Given the description of an element on the screen output the (x, y) to click on. 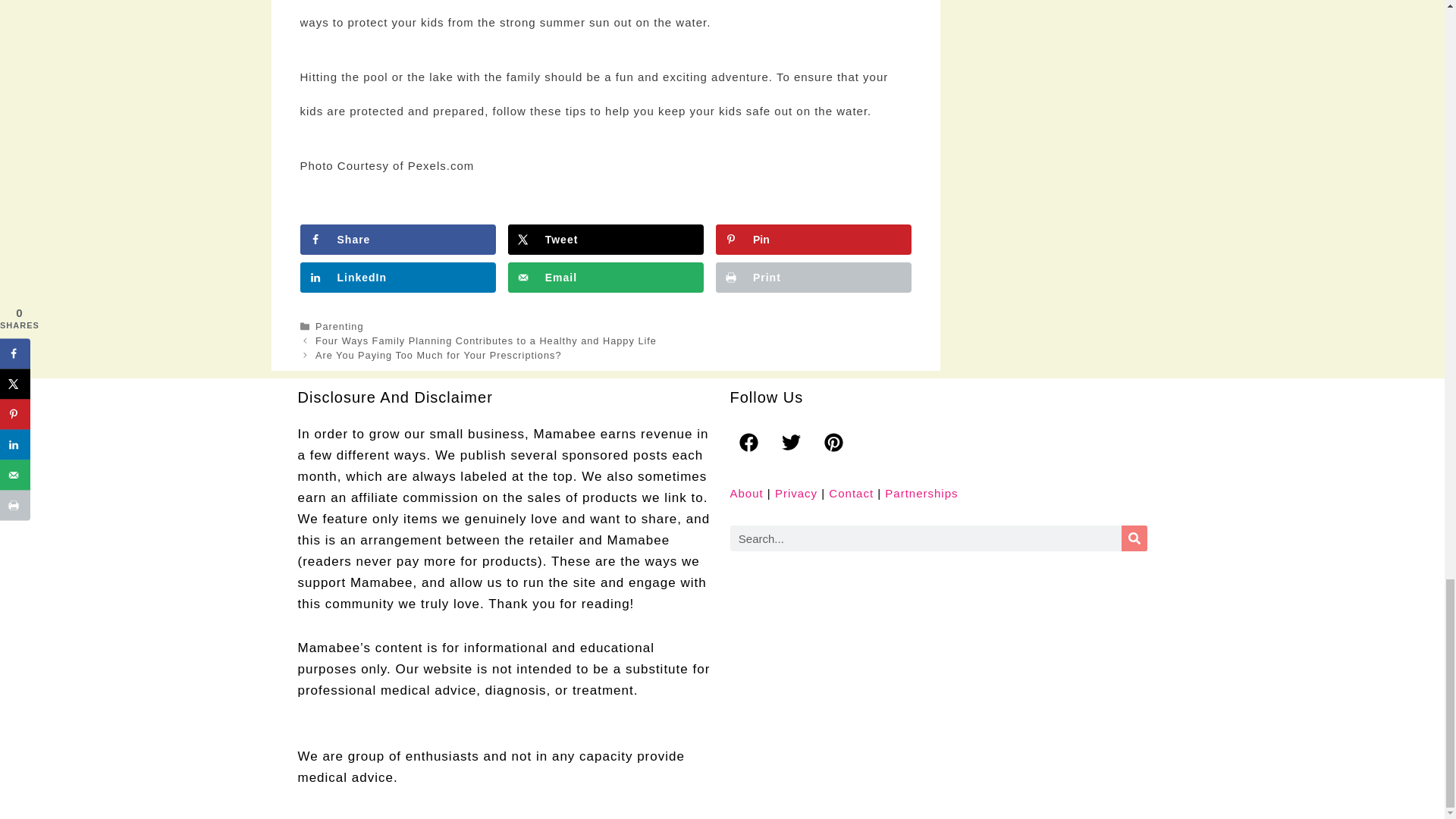
Share on Facebook (397, 239)
Save to Pinterest (813, 239)
Share on LinkedIn (397, 277)
Print this webpage (813, 277)
Send over email (605, 277)
Share on X (605, 239)
